Given the description of an element on the screen output the (x, y) to click on. 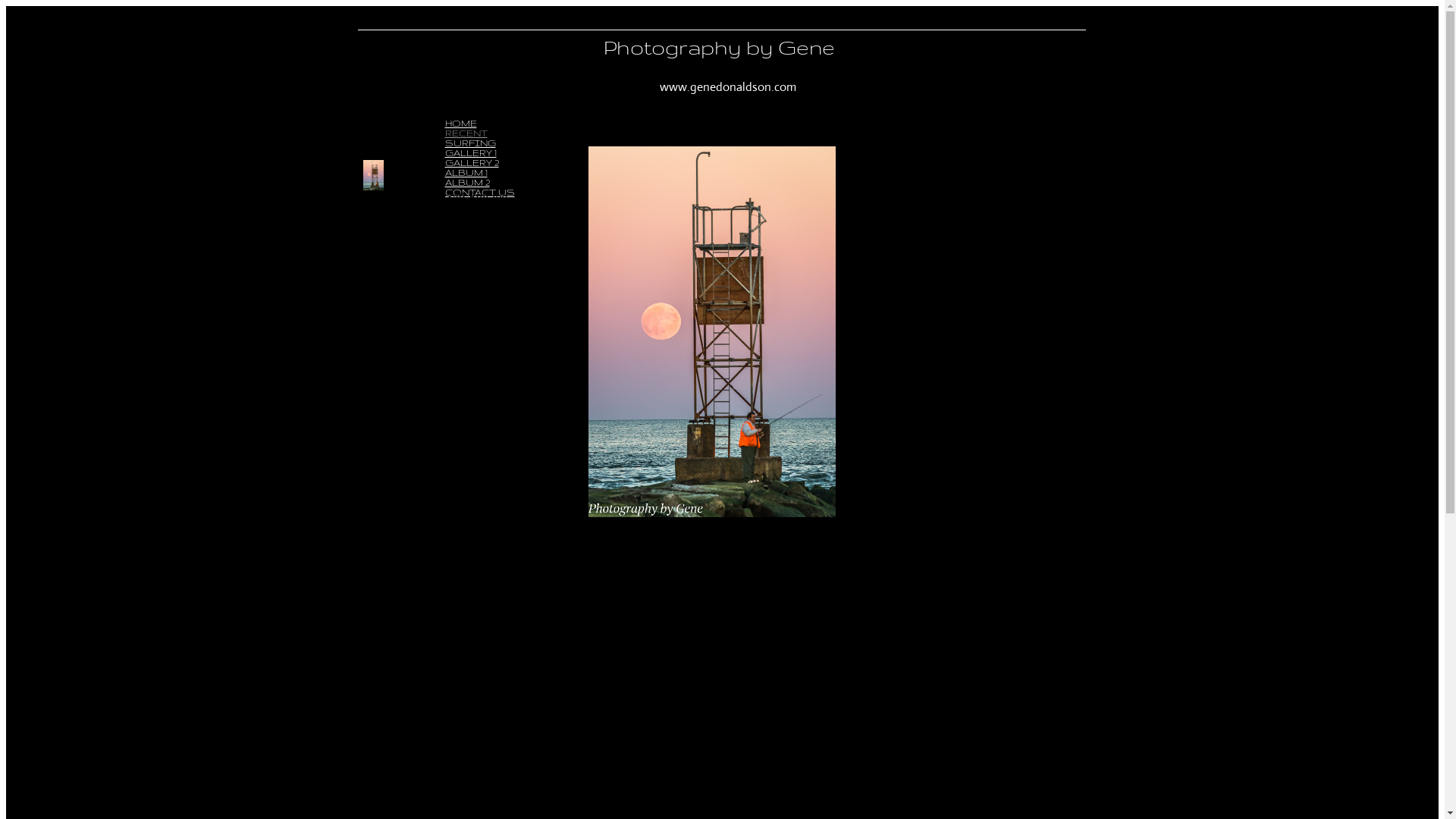
RECENT Element type: text (465, 133)
ALBUM 1 Element type: text (465, 172)
GALLERY 1 Element type: text (469, 152)
SURFING Element type: text (469, 142)
HOME Element type: text (460, 123)
CONTACT US Element type: text (479, 192)
GALLERY 2 Element type: text (471, 162)
ALBUM 2 Element type: text (466, 182)
